Given the description of an element on the screen output the (x, y) to click on. 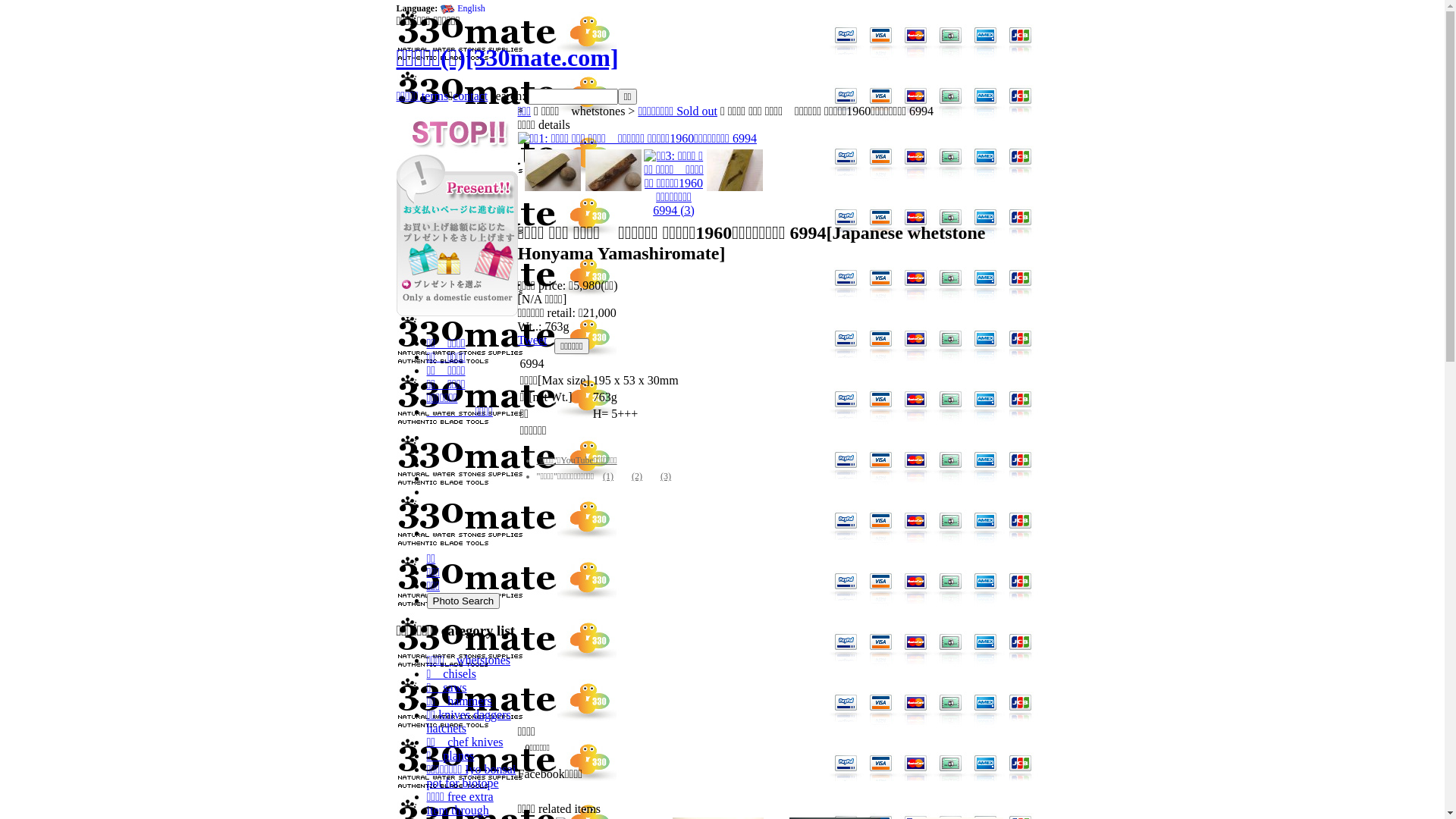
Photo Search Element type: text (462, 600)
contact Element type: text (469, 95)
Tweet Element type: text (531, 339)
(3) Element type: text (665, 475)
English Element type: text (471, 8)
(1) Element type: text (607, 475)
(2) Element type: text (636, 475)
for JP customers Element type: hover (456, 319)
